Given the description of an element on the screen output the (x, y) to click on. 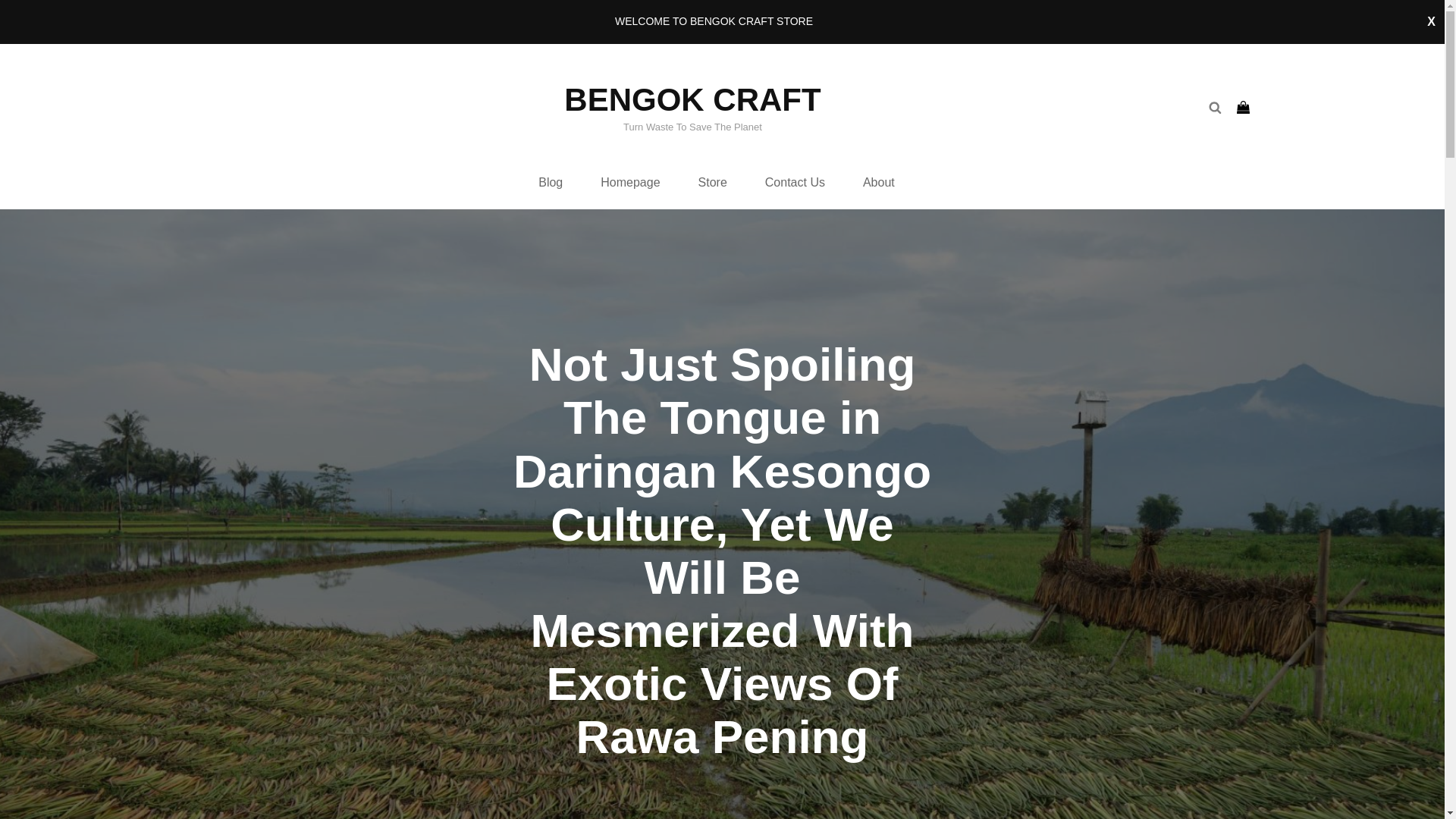
BENGOK CRAFT (692, 99)
Contact Us (794, 182)
Store (712, 182)
Homepage (629, 182)
View your shopping cart (1244, 108)
Blog (549, 182)
About (879, 182)
